Given the description of an element on the screen output the (x, y) to click on. 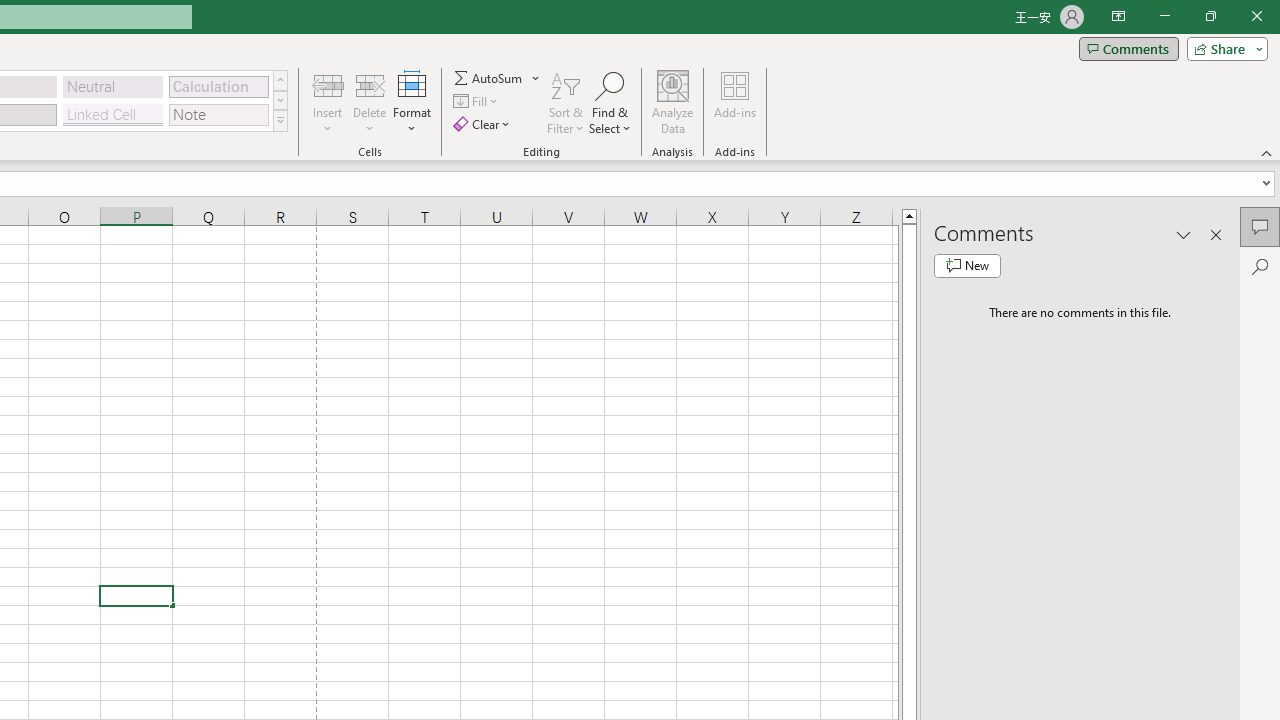
Linked Cell (113, 114)
Neutral (113, 86)
Analyze Data (673, 102)
Close pane (1215, 234)
Minimize (1164, 16)
Delete Cells... (369, 84)
Restore Down (1210, 16)
Fill (477, 101)
Calculation (218, 86)
Search (1260, 266)
Ribbon Display Options (1118, 16)
New comment (967, 265)
Clear (483, 124)
Sort & Filter (566, 102)
